Given the description of an element on the screen output the (x, y) to click on. 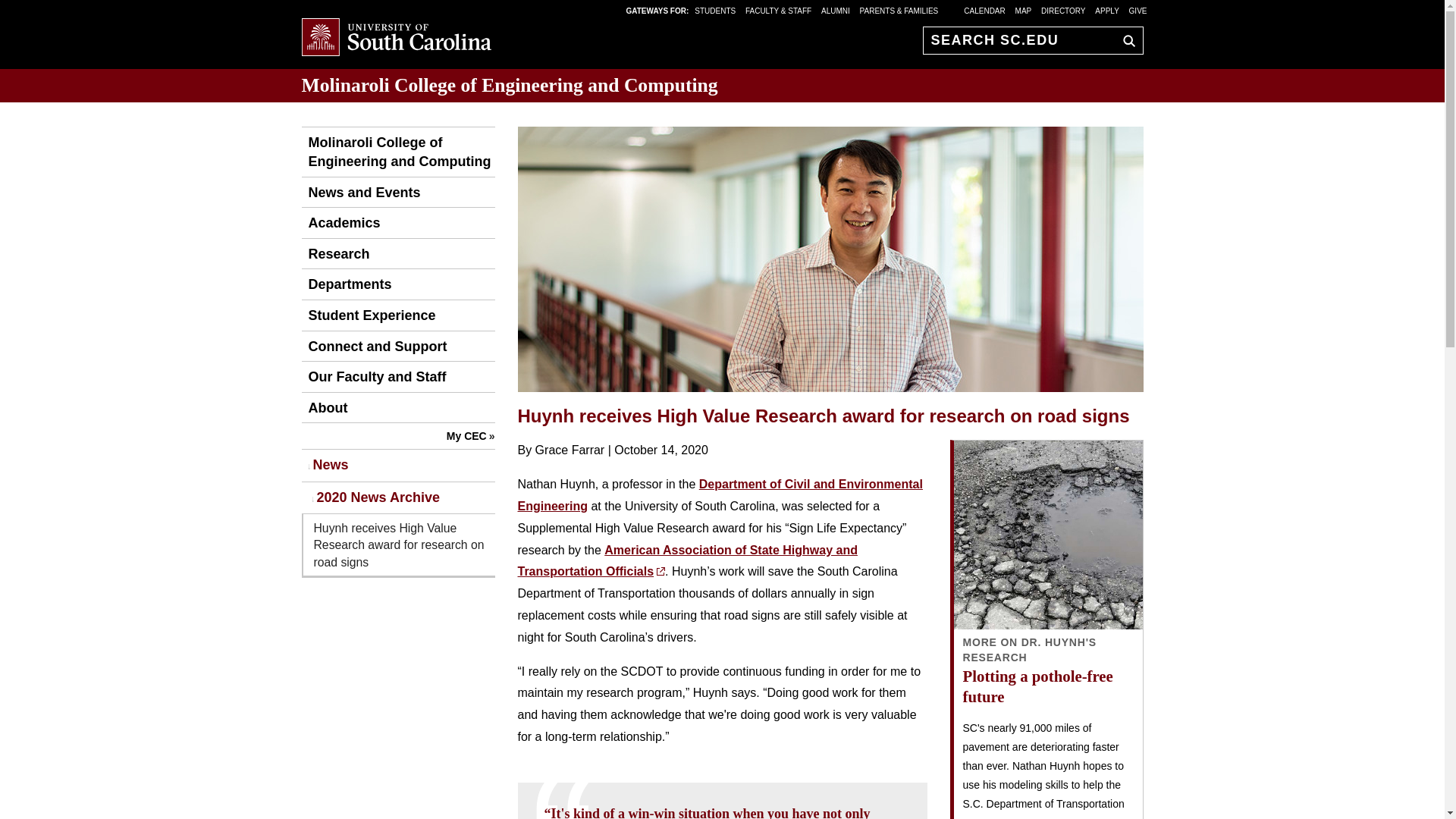
STUDENTS (716, 9)
GIVE (1138, 9)
sc.edu Search (1125, 40)
MAP (1023, 9)
ALUMNI (835, 9)
Molinaroli College of Engineering and Computing (509, 85)
University of South Carolina Home (396, 38)
DIRECTORY (1063, 9)
GO (1125, 40)
CALENDAR (983, 9)
